Given the description of an element on the screen output the (x, y) to click on. 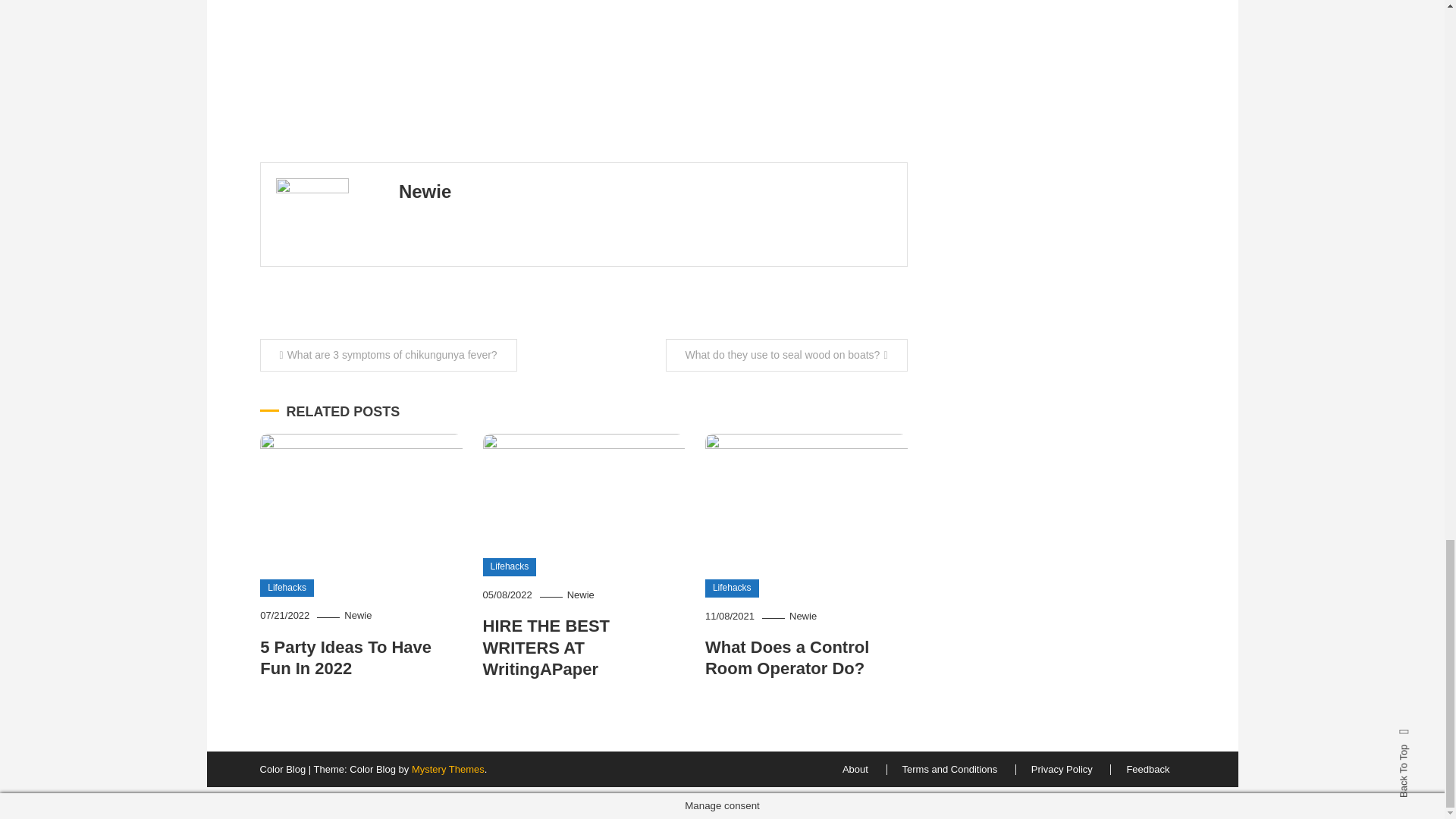
What Does a Control Room Operator Do? (786, 658)
5 Party Ideas To Have Fun In 2022 (345, 658)
Lifehacks (731, 588)
Newie (357, 614)
What do they use to seal wood on boats? (786, 355)
Newie (580, 594)
HIRE THE BEST WRITERS AT WritingAPaper (546, 647)
Newie (424, 190)
Posts by Newie (424, 190)
Lifehacks (287, 588)
